Given the description of an element on the screen output the (x, y) to click on. 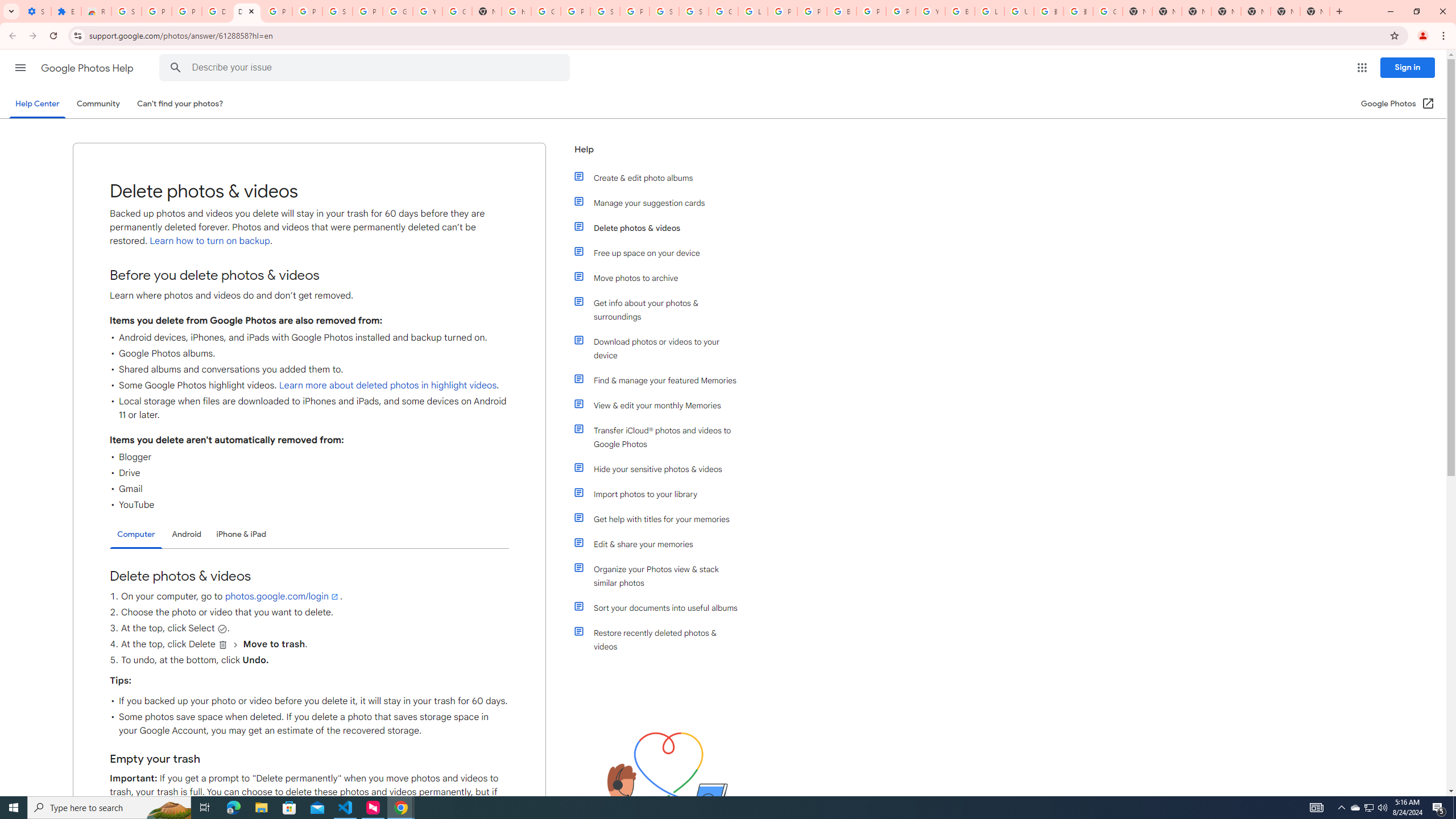
Delete photos & videos (661, 227)
Settings - On startup (36, 11)
Find & manage your featured Memories (661, 380)
New Tab (1314, 11)
Restore recently deleted photos & videos (661, 639)
Sign in - Google Accounts (664, 11)
Sign in - Google Accounts (604, 11)
iPhone & iPad (240, 533)
